Given the description of an element on the screen output the (x, y) to click on. 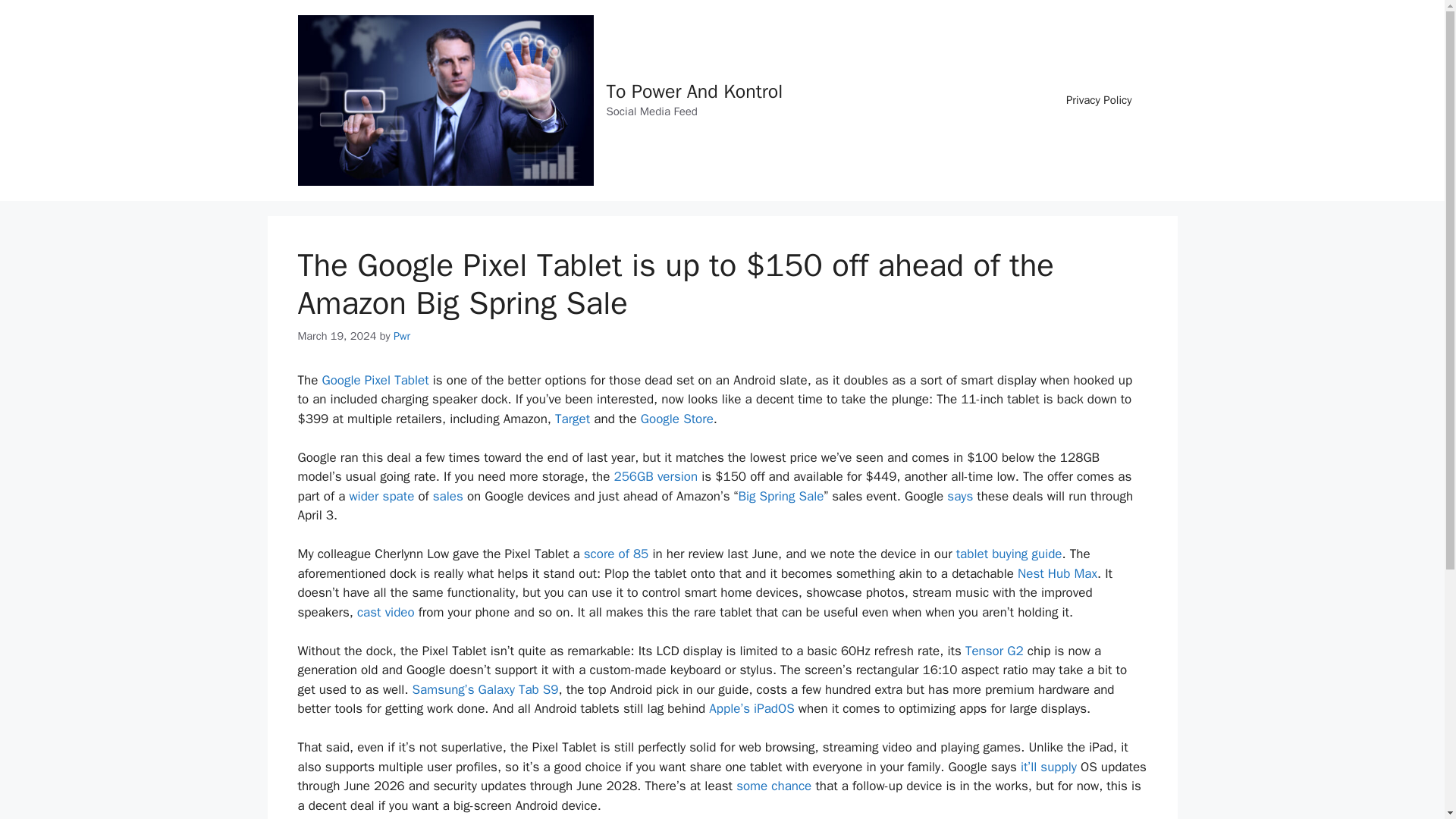
cast video (385, 611)
sales (447, 496)
Google Pixel Tablet (374, 380)
View all posts by Pwr (401, 336)
Target (571, 418)
tablet buying guide (1009, 553)
Privacy Policy (1099, 99)
Nest Hub Max (1057, 573)
wider (363, 496)
Pwr (401, 336)
says (959, 496)
Tensor G2 (994, 650)
spate (398, 496)
some chance (773, 785)
256GB version (654, 476)
